Given the description of an element on the screen output the (x, y) to click on. 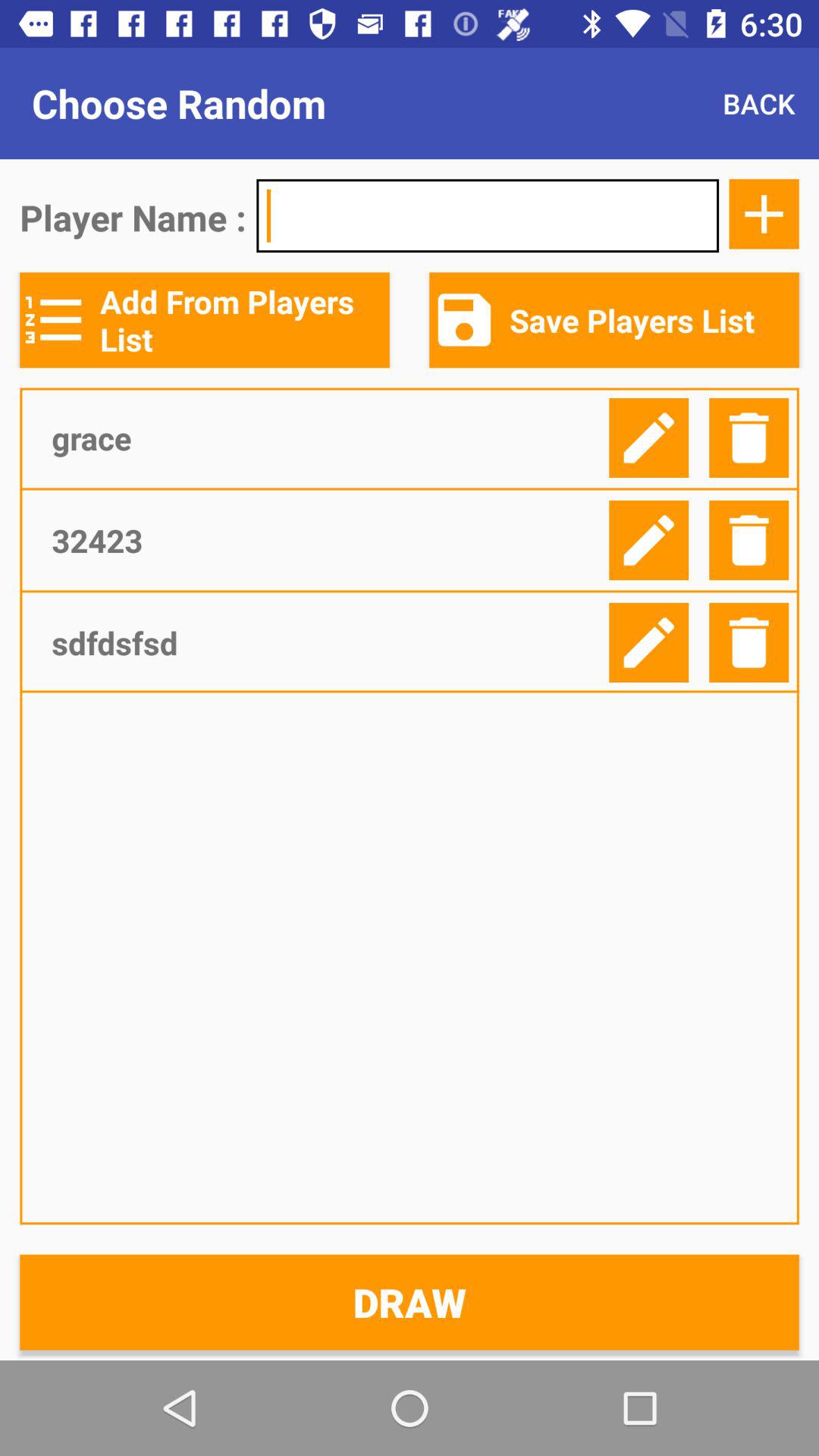
delete list item (748, 540)
